Given the description of an element on the screen output the (x, y) to click on. 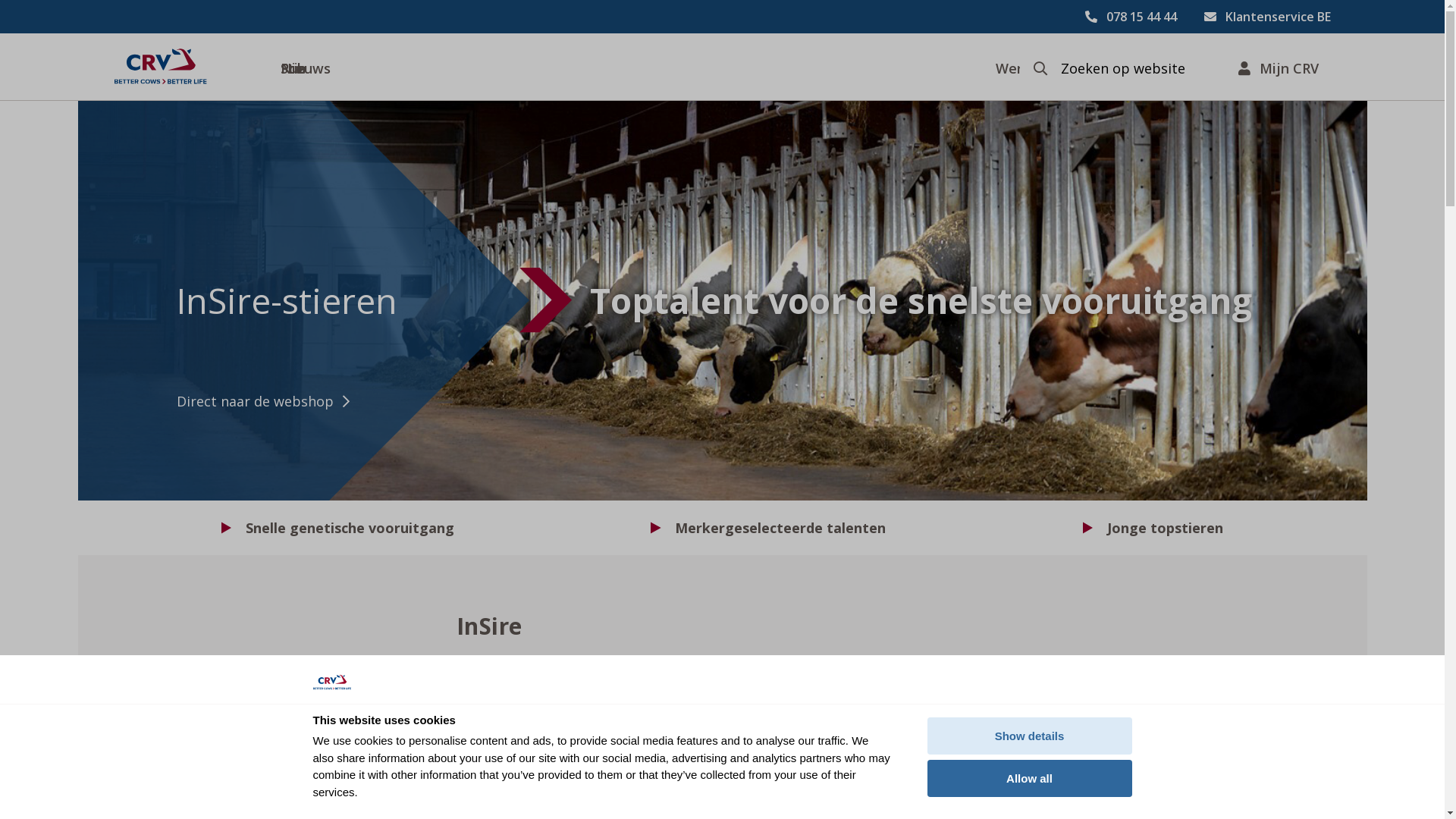
Nieuws Element type: text (613, 66)
Stierenaanbod Element type: text (280, 66)
Mijn CRV Element type: text (1277, 66)
Show details Element type: text (1028, 735)
Home Element type: hover (159, 66)
078 15 44 44 Element type: text (1130, 16)
Klantenservice BE Element type: text (1267, 16)
Allow all Element type: text (1028, 778)
Direct naar de webshop Element type: text (291, 401)
Werken bij CRV Element type: text (995, 66)
Zoeken op website Element type: text (1122, 68)
